Given the description of an element on the screen output the (x, y) to click on. 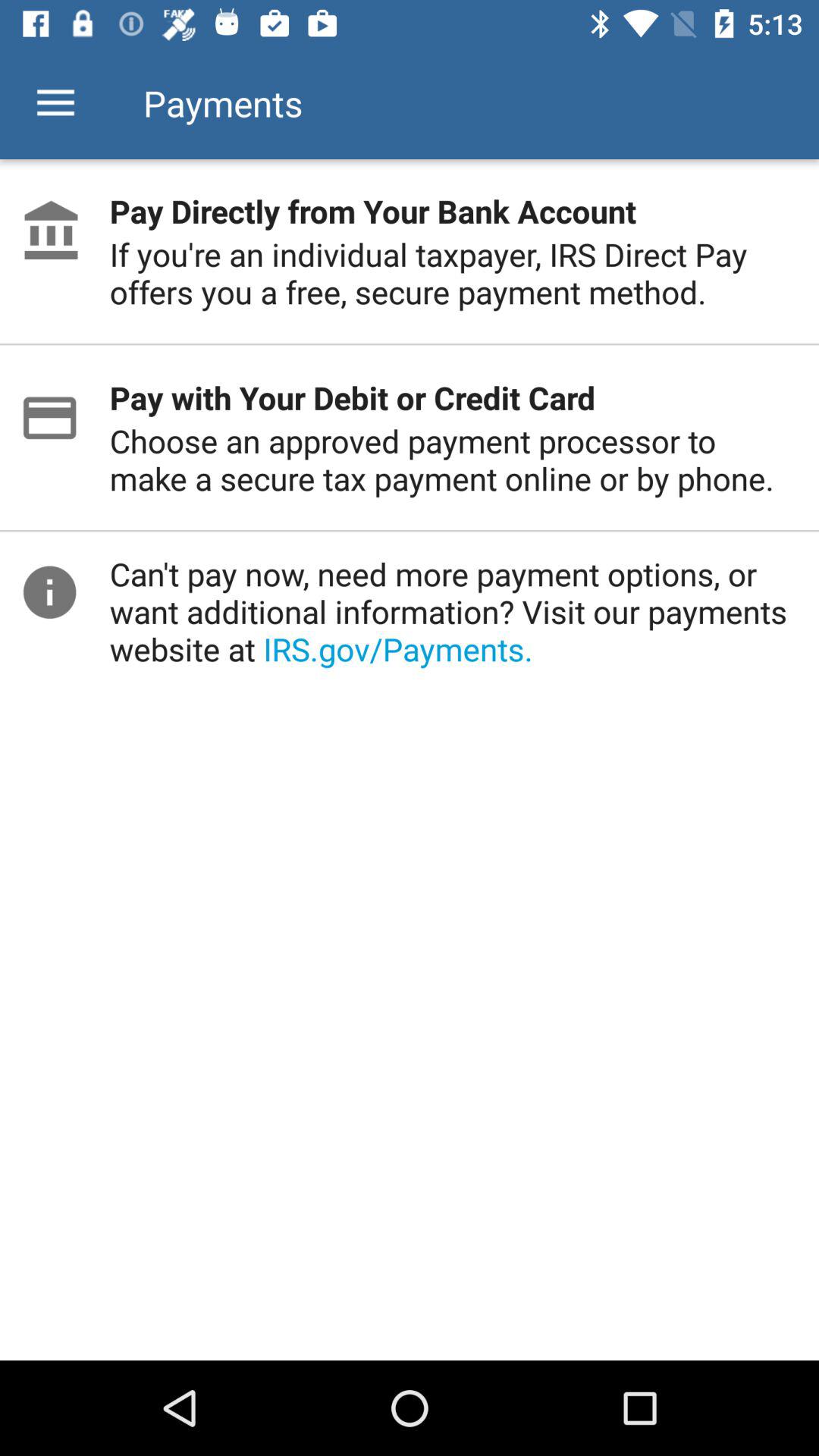
click the icon next to payments (55, 103)
